Given the description of an element on the screen output the (x, y) to click on. 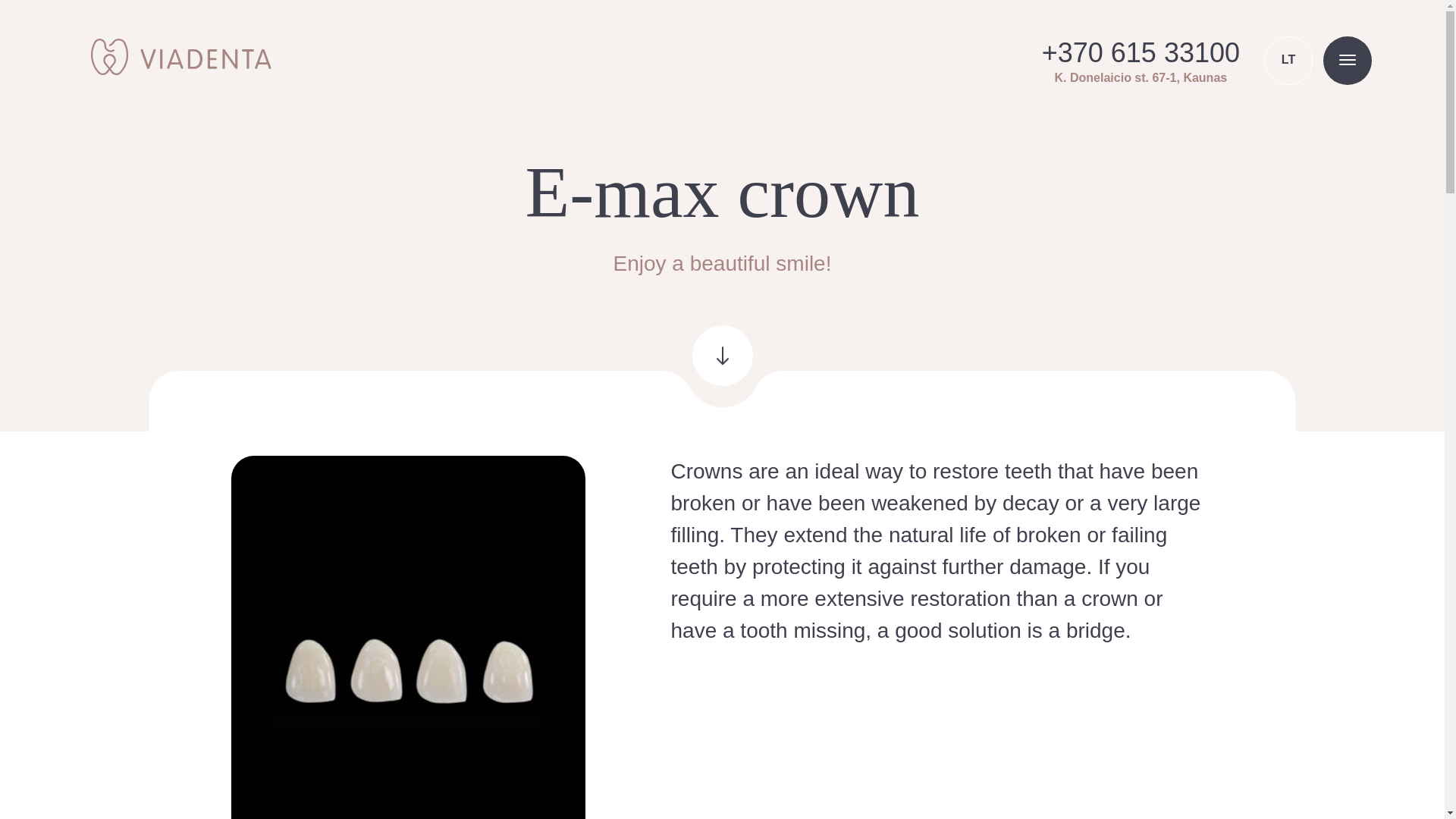
Odontologijos klinika Kaune (180, 56)
